Given the description of an element on the screen output the (x, y) to click on. 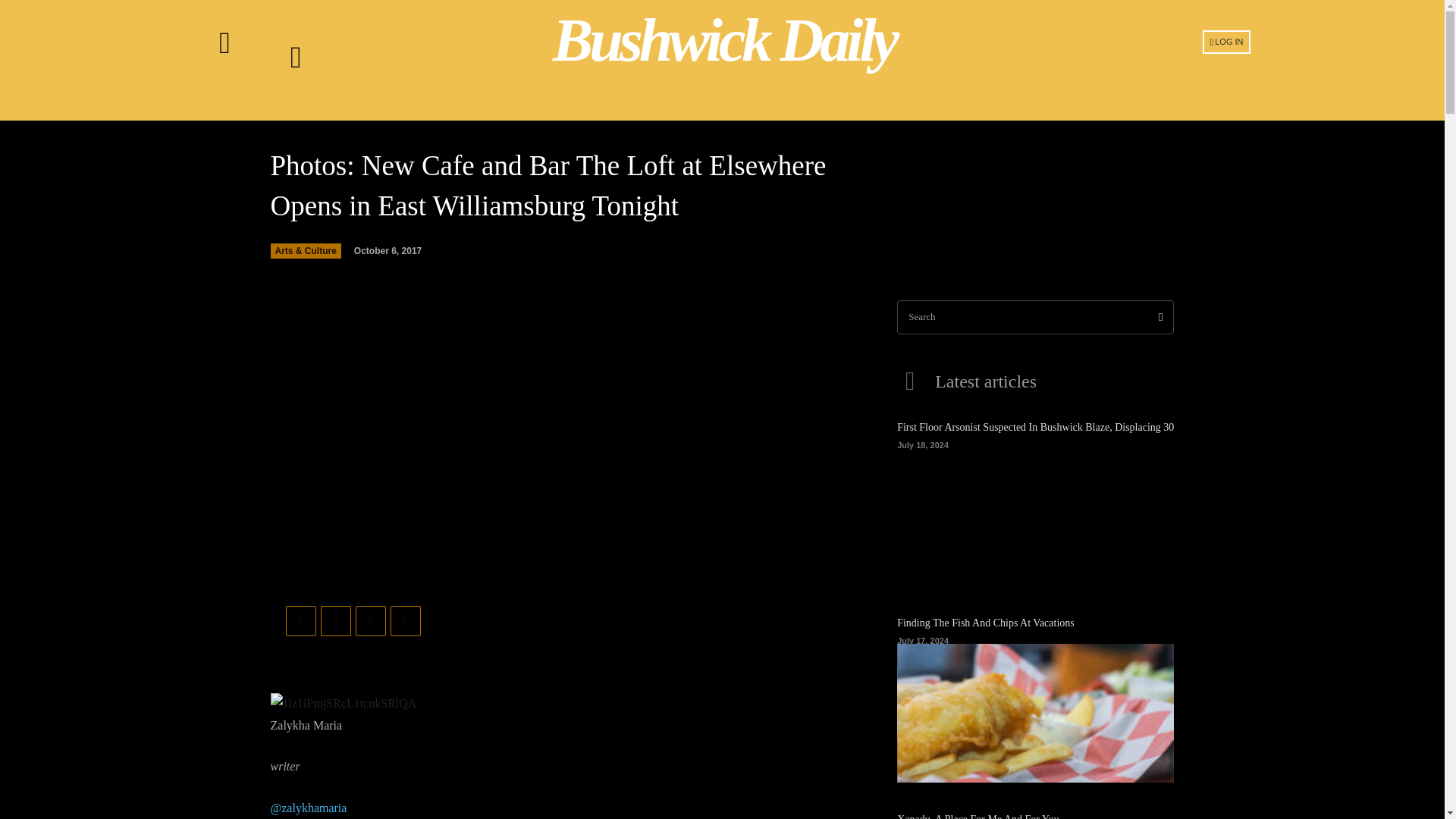
Facebook (300, 621)
Pinterest (370, 621)
LOG IN (1226, 41)
Finding The Fish And Chips At Vacations (985, 622)
Xanadu, A Place For Me And For You (977, 816)
Bushwick Daily (724, 40)
Twitter (335, 621)
WhatsApp (405, 621)
